Given the description of an element on the screen output the (x, y) to click on. 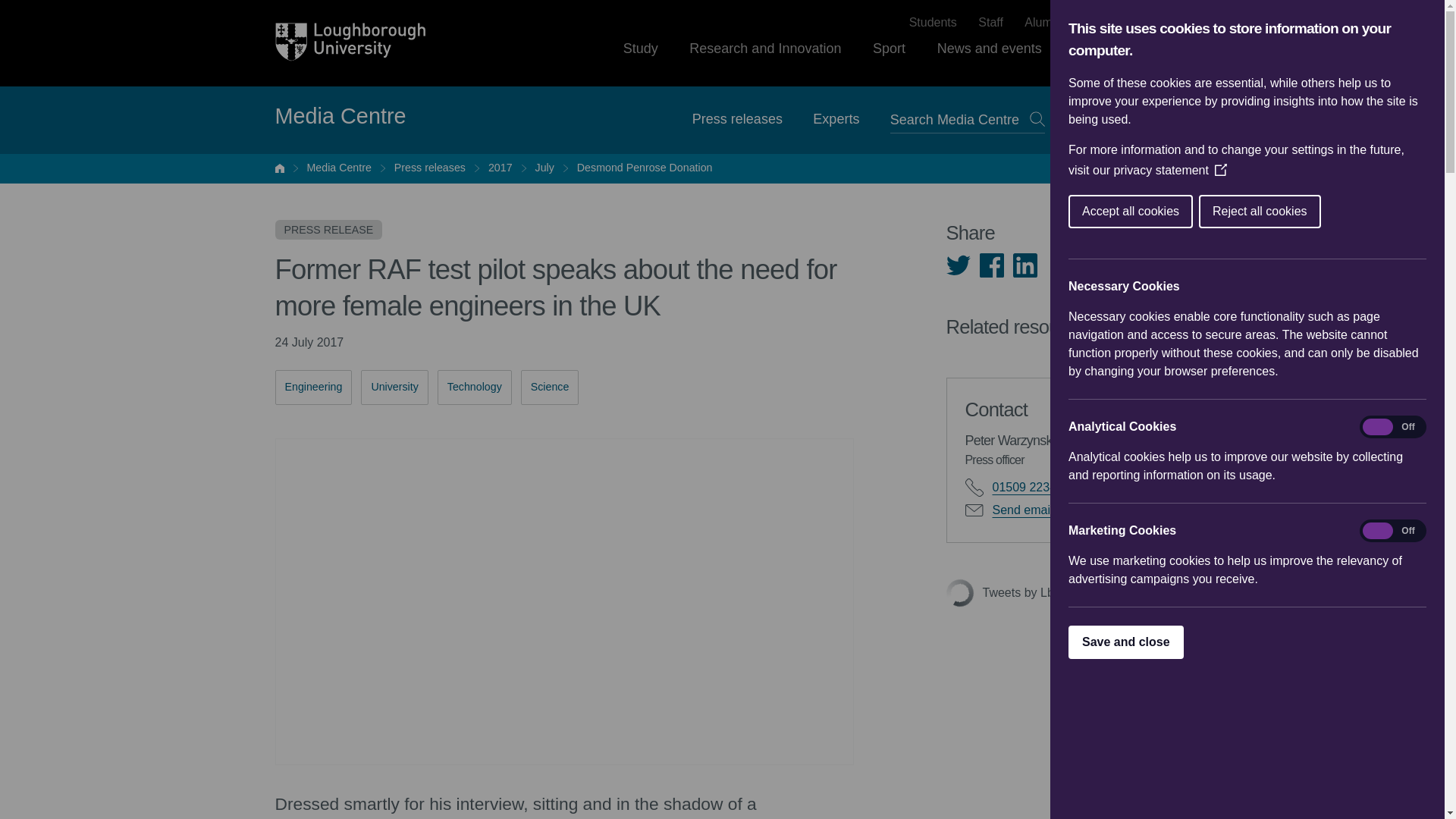
Media Centre (338, 168)
2017 (499, 168)
Go (1037, 118)
Press releases (738, 119)
MENU (1122, 119)
Jobs (1096, 22)
Press releases (429, 168)
Save and close (1265, 642)
Media Centre (340, 116)
